Given the description of an element on the screen output the (x, y) to click on. 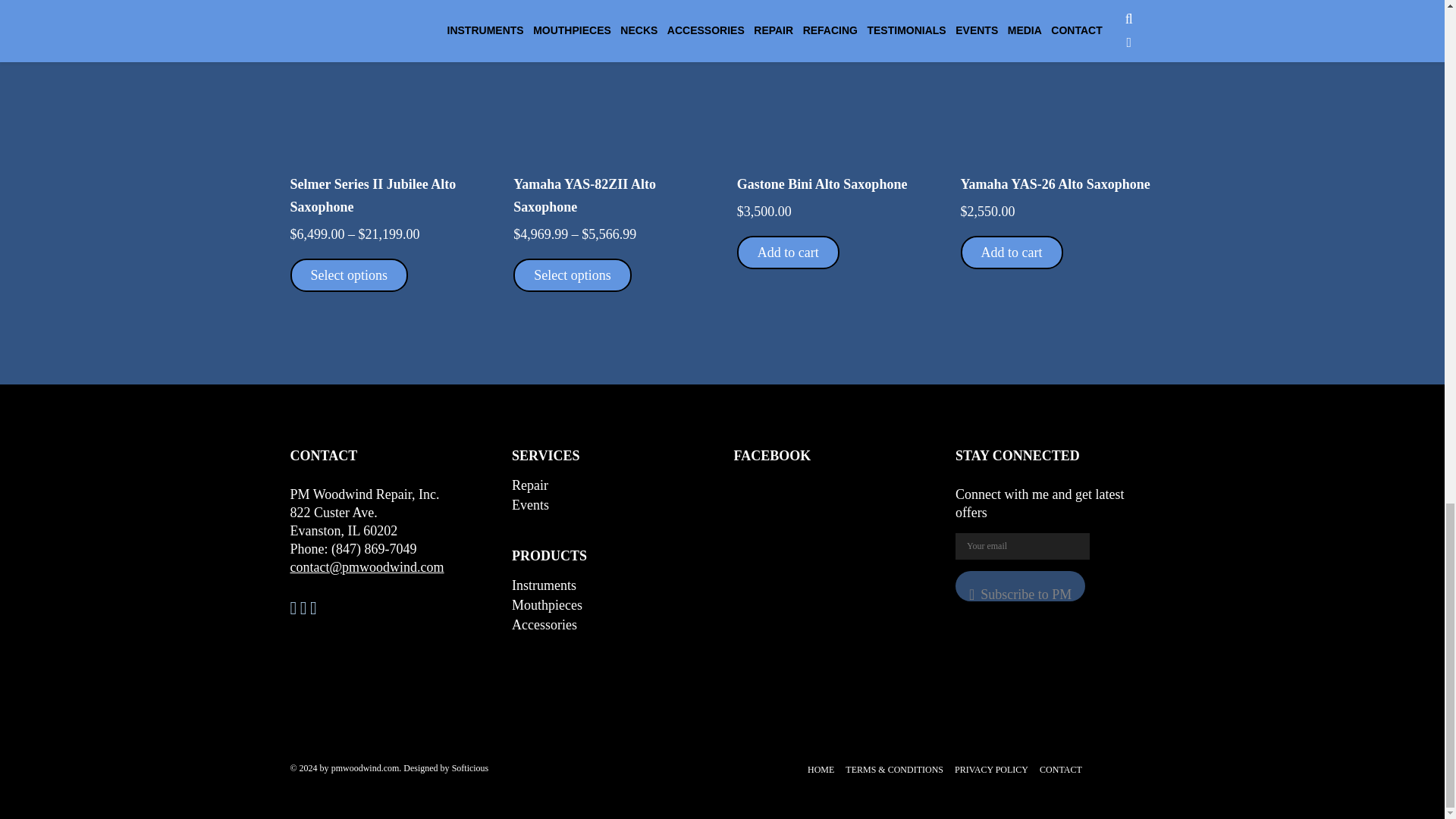
Select options (572, 274)
web development (470, 767)
Select options (348, 274)
